Given the description of an element on the screen output the (x, y) to click on. 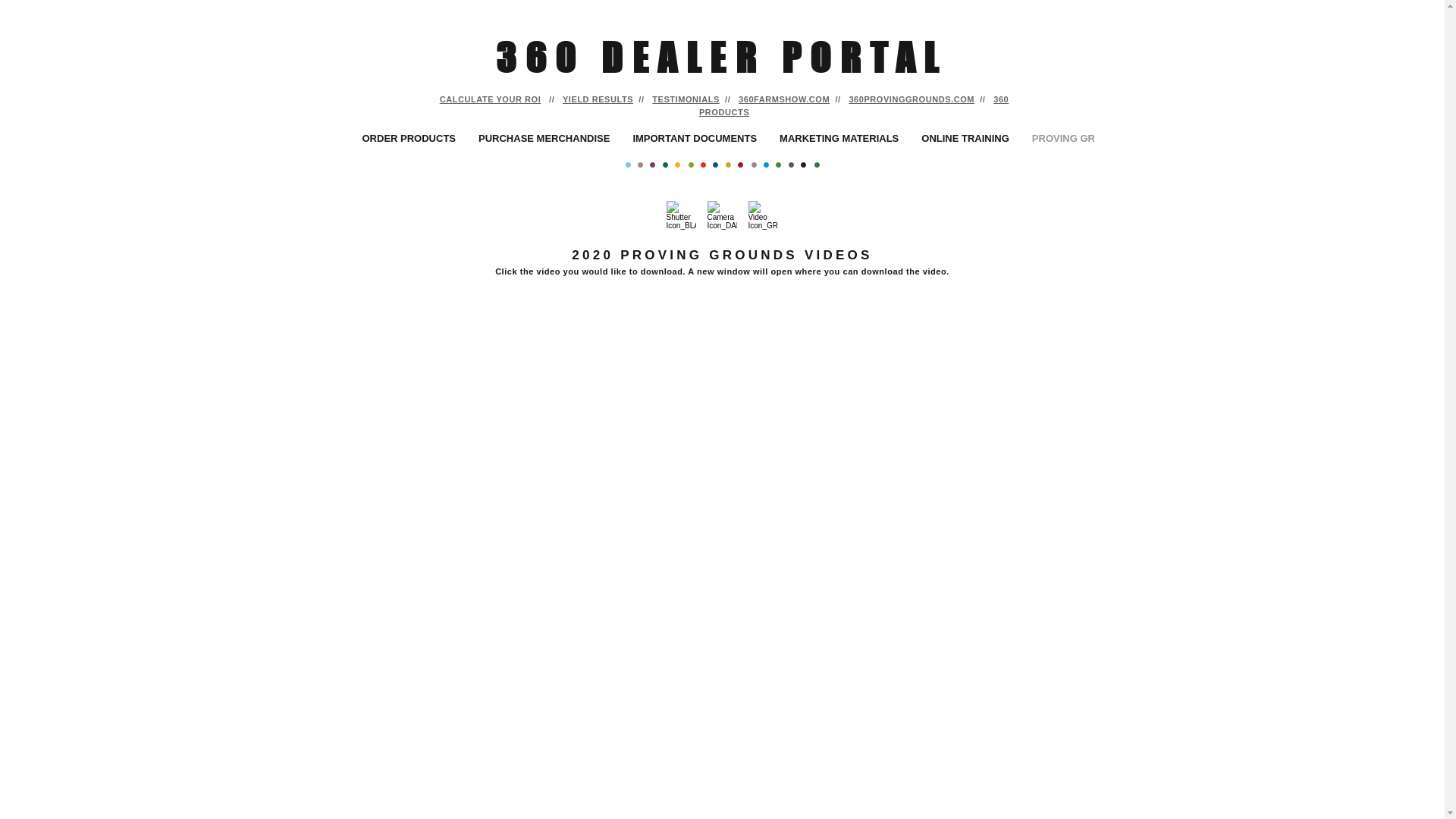
MARKETING MATERIALS Element type: text (839, 138)
PROVING GROUNDS Element type: text (1081, 138)
360 DEALER PORTAL Element type: text (721, 59)
ONLINE TRAINING Element type: text (965, 138)
Video Icon_BLUE.png Element type: hover (762, 215)
360FARMSHOW.COM Element type: text (783, 98)
  //    Element type: text (983, 98)
YIELD RESULTS Element type: text (597, 98)
Camera Icon_RED.png Element type: hover (721, 215)
TESTIMONIALS Element type: text (685, 98)
  //   360PROVINGGROUNDS.COM Element type: text (901, 98)
ORDER PRODUCTS Element type: text (408, 138)
360 PRODUCTS Element type: text (853, 105)
Image Icon_GRAY.png Element type: hover (680, 215)
PURCHASE MERCHANDISE Element type: text (544, 138)
CALCULATE YOUR ROI Element type: text (490, 98)
IMPORTANT DOCUMENTS Element type: text (694, 138)
